Given the description of an element on the screen output the (x, y) to click on. 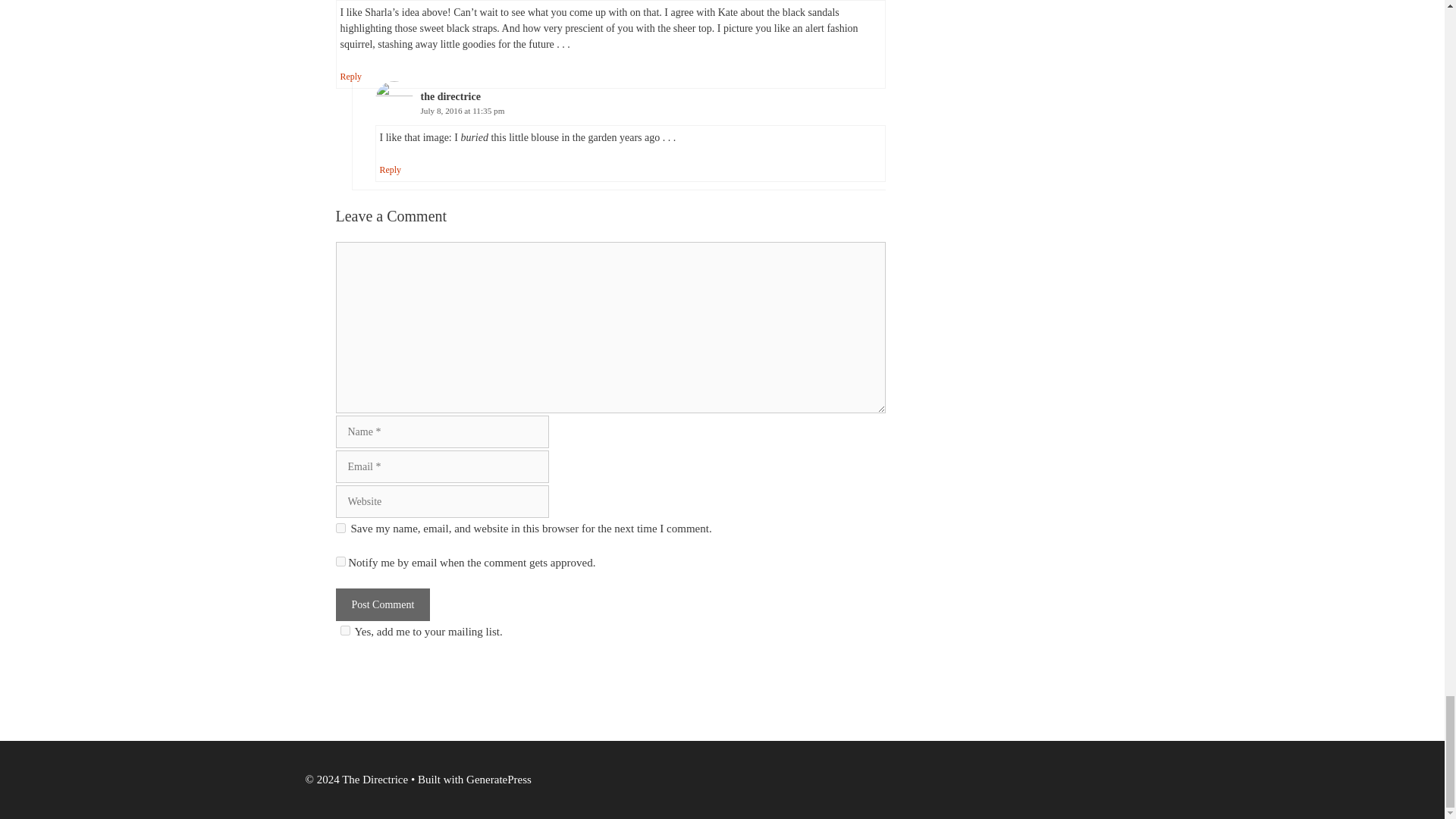
Post Comment (381, 604)
yes (339, 528)
1 (339, 561)
1 (343, 630)
